Given the description of an element on the screen output the (x, y) to click on. 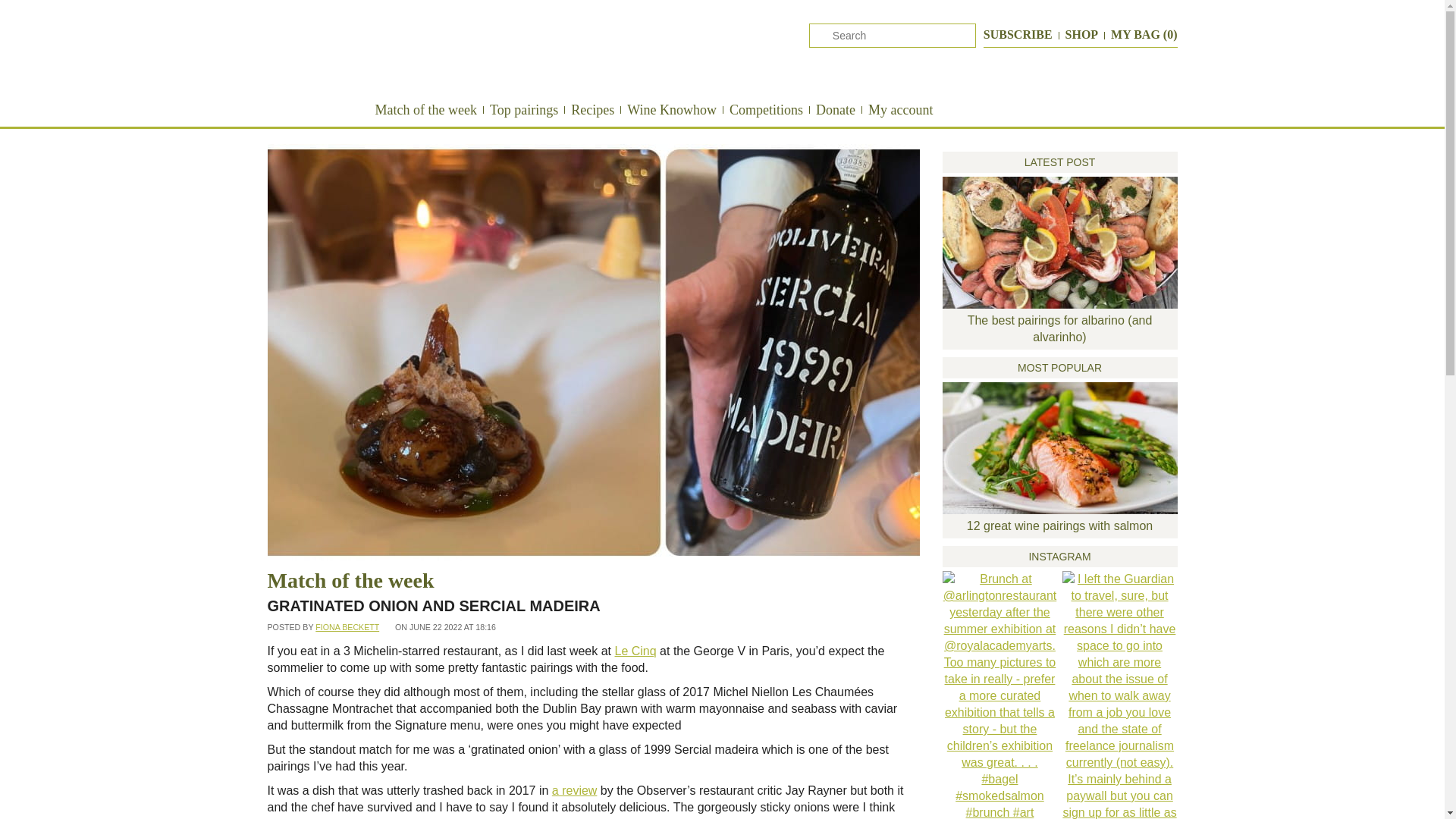
Wine Knowhow (671, 109)
Donate (835, 109)
Match of the week (425, 109)
Competitions (766, 109)
FIONA BECKETT (346, 626)
Recipes (592, 109)
Le Cinq (635, 650)
SUBSCRIBE (1018, 33)
My account (900, 109)
a review (573, 789)
